Given the description of an element on the screen output the (x, y) to click on. 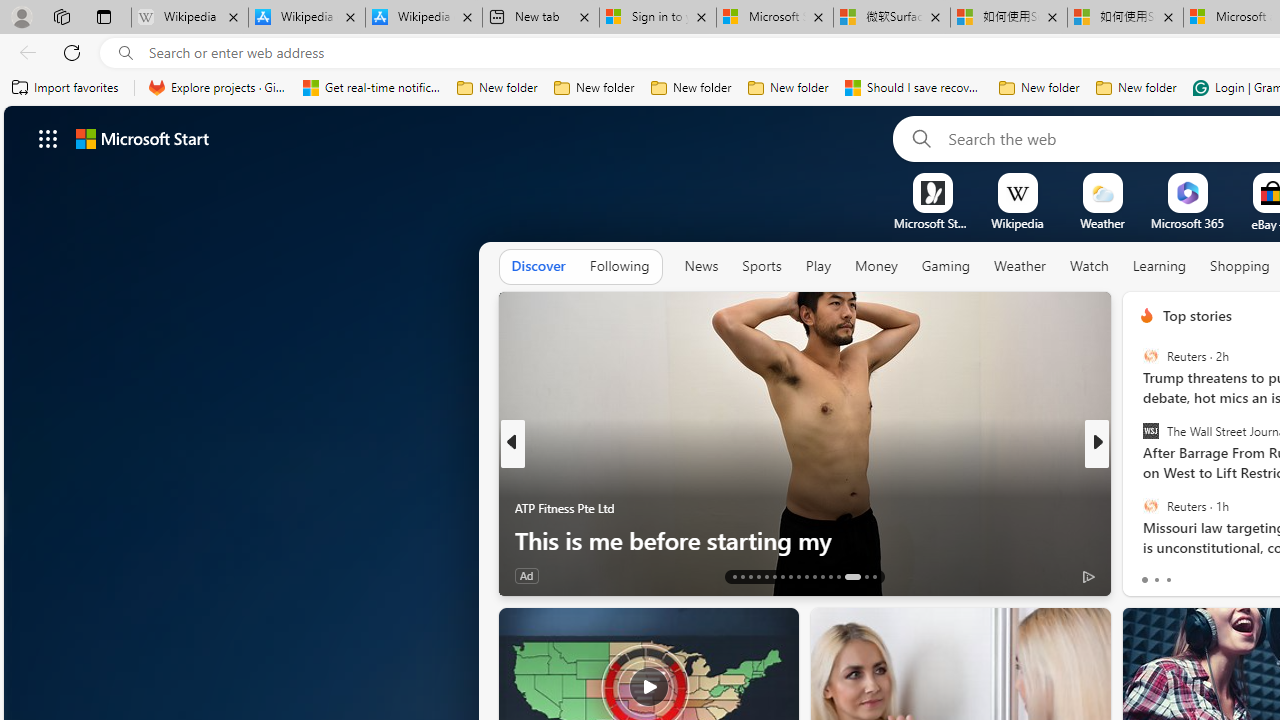
AutomationID: tab-16 (757, 576)
tab-2 (1168, 579)
AutomationID: tab-19 (782, 576)
Sports (761, 265)
Shopping (1240, 265)
View comments 1 Comment (1234, 574)
Microsoft start (142, 138)
Wikipedia (1017, 223)
Weather (1019, 267)
